Given the description of an element on the screen output the (x, y) to click on. 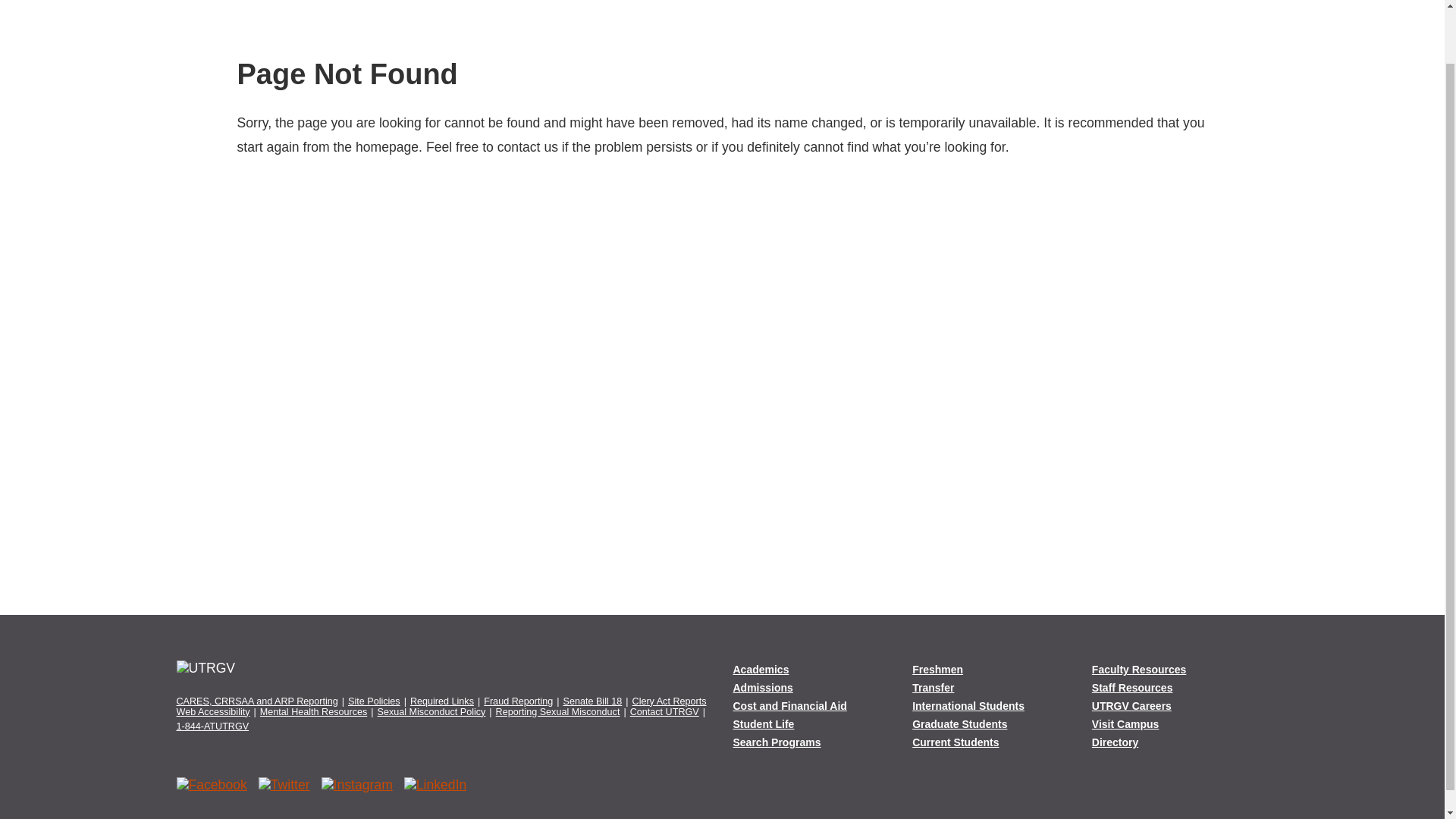
Senate Bill 18 (593, 701)
Contact UTRGV (664, 711)
CARES, CRRSAA and ARP Reporting (256, 701)
Visit Site Policies (373, 701)
Sexual Misconduct Policy (431, 711)
Mental Health Resources (313, 711)
Fraud Reporting (518, 701)
Clery Act Reports (668, 701)
Web Accessibility (212, 711)
Visit CARES, CRRSAA and ARP Reporting (256, 701)
